Given the description of an element on the screen output the (x, y) to click on. 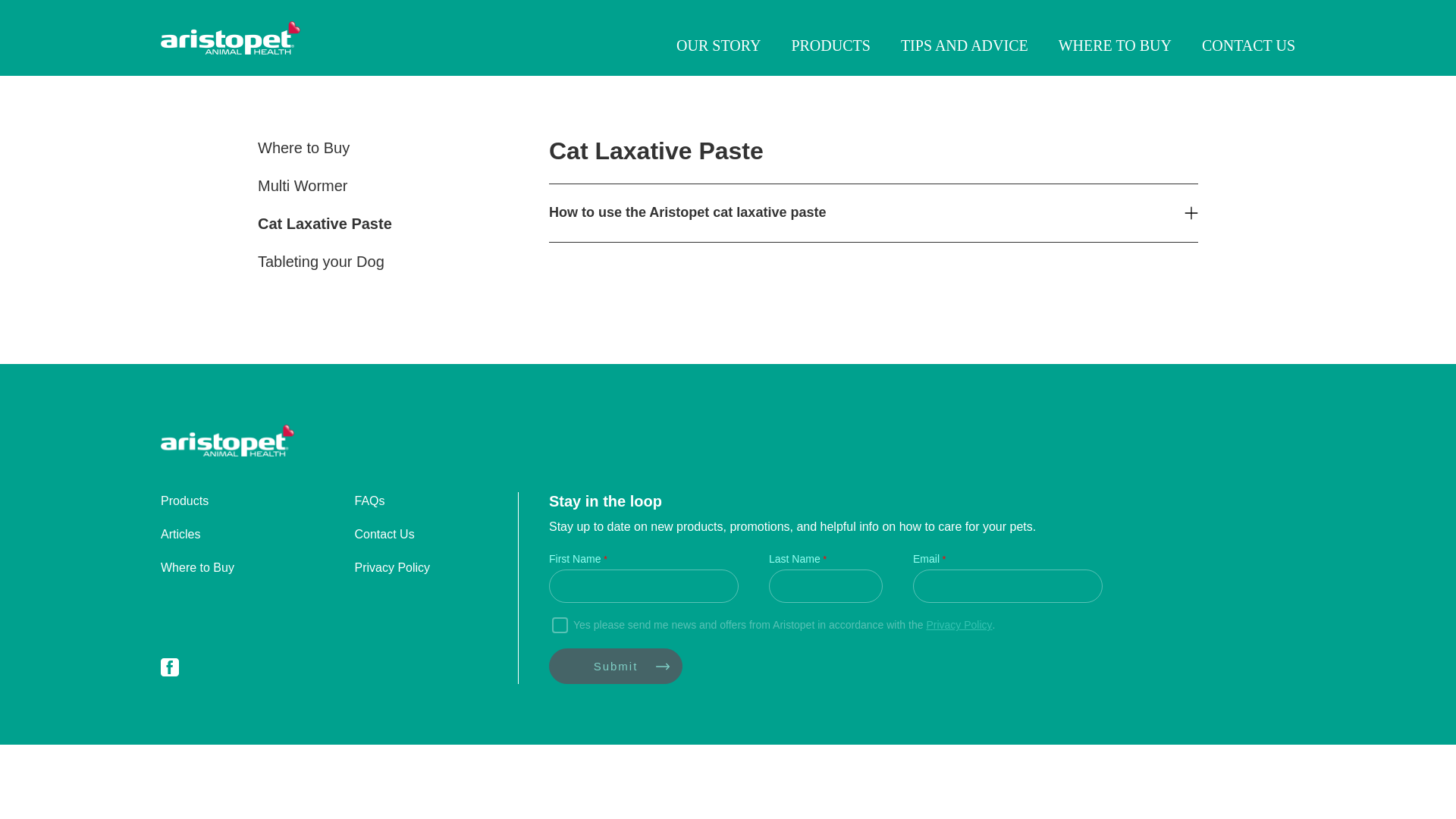
Submit (615, 665)
FAQs (370, 500)
First Name (643, 585)
Submit (615, 665)
Tableting your Dog (320, 261)
WHERE TO BUY (1115, 45)
Products (184, 500)
Multi Wormer (302, 185)
Follow Aristopet on Facebook (169, 670)
PRODUCTS (829, 45)
Privacy Policy (392, 567)
Aristopet Animal Health (227, 443)
Privacy Policy (392, 567)
OUR STORY (718, 45)
Contact Us (384, 533)
